Given the description of an element on the screen output the (x, y) to click on. 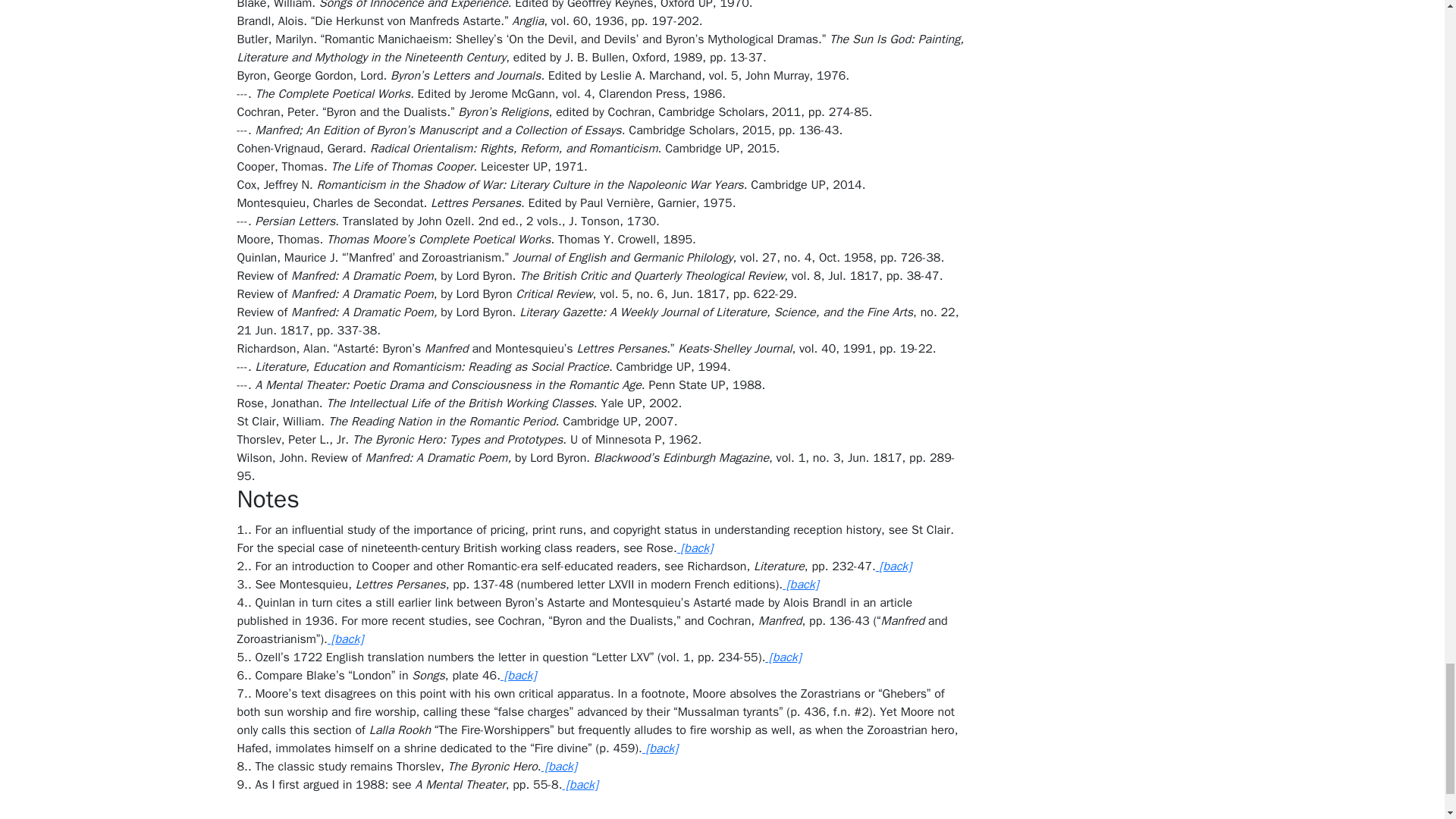
Go back to text (579, 784)
Go back to text (782, 657)
Go back to text (893, 566)
Go back to text (558, 766)
Go back to text (517, 675)
Go back to text (695, 548)
Go back to text (660, 748)
Go back to text (800, 584)
Go back to text (344, 639)
